Given the description of an element on the screen output the (x, y) to click on. 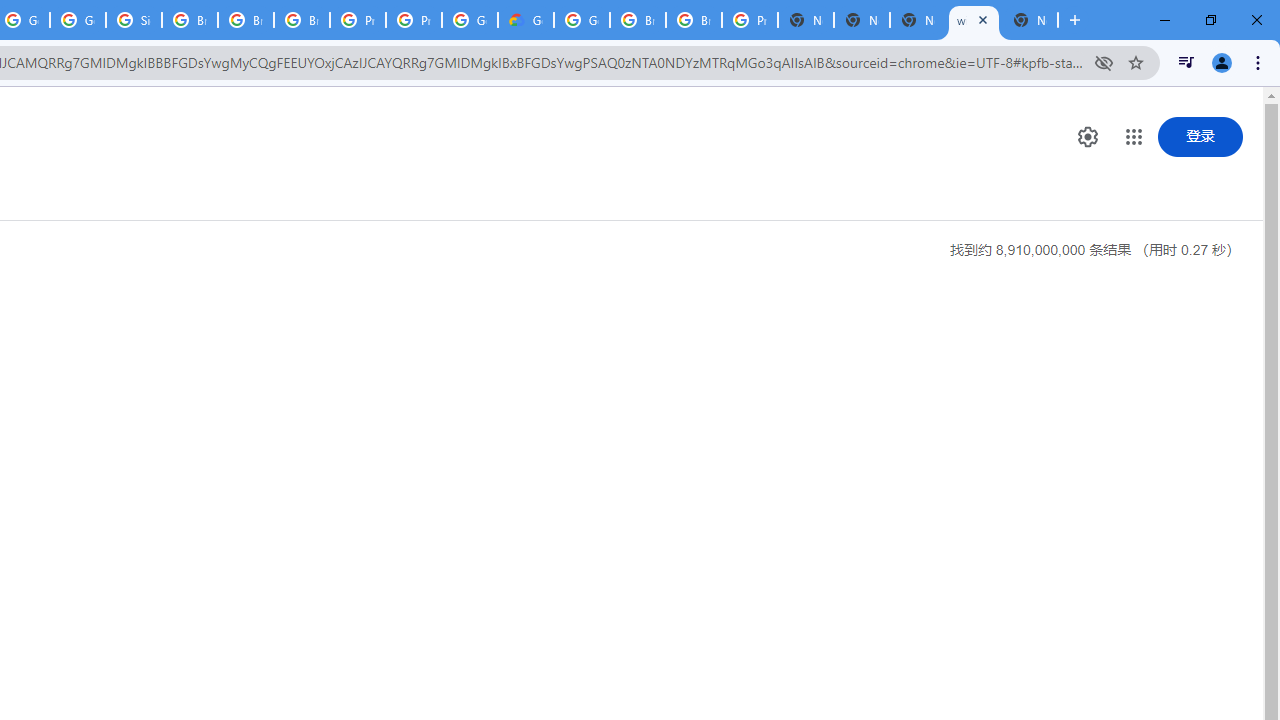
Browse Chrome as a guest - Computer - Google Chrome Help (693, 20)
New Tab (1030, 20)
Browse Chrome as a guest - Computer - Google Chrome Help (637, 20)
